Given the description of an element on the screen output the (x, y) to click on. 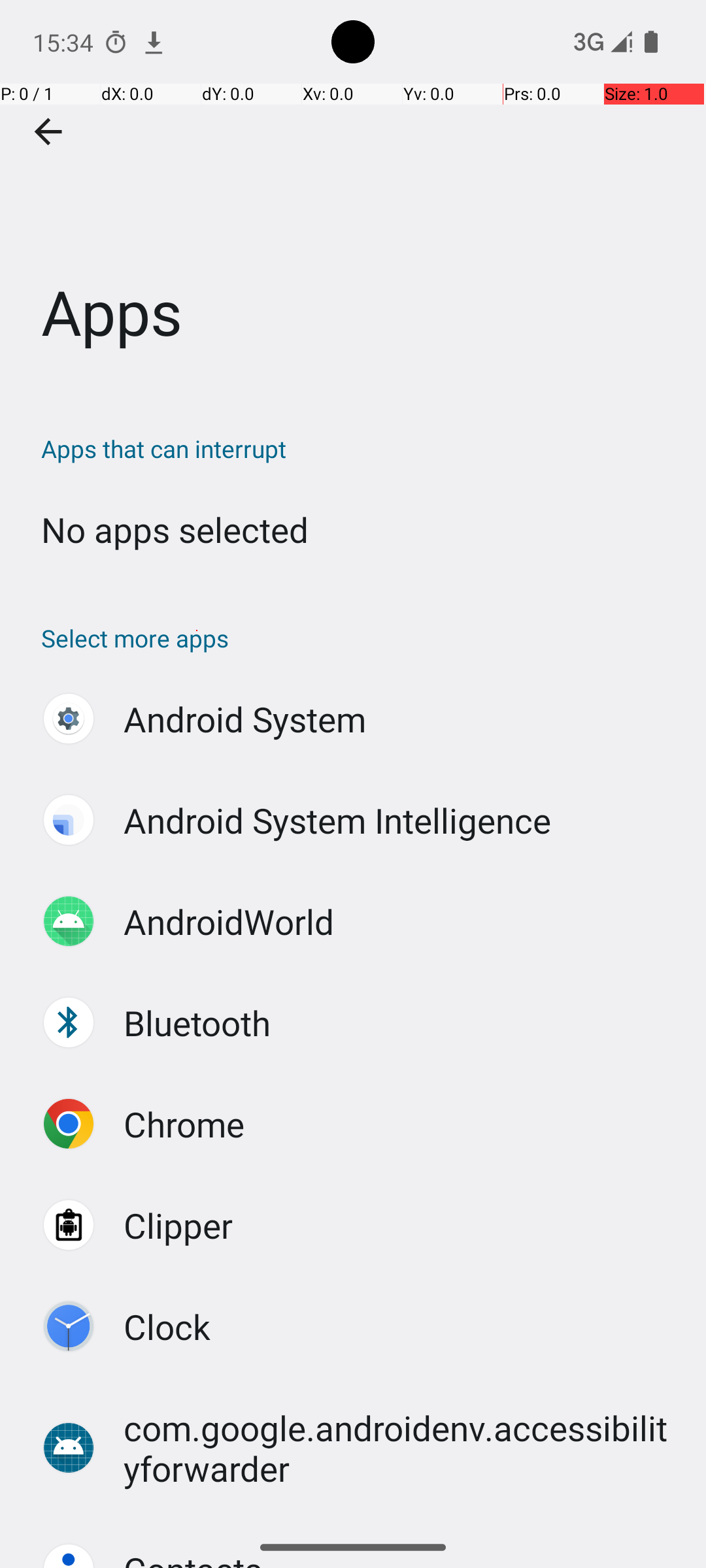
Apps that can interrupt Element type: android.widget.TextView (359, 448)
No apps selected Element type: android.widget.TextView (174, 529)
Select more apps Element type: android.widget.TextView (359, 637)
Android System Element type: android.widget.TextView (244, 718)
com.google.androidenv.accessibilityforwarder Element type: android.widget.TextView (400, 1447)
